Given the description of an element on the screen output the (x, y) to click on. 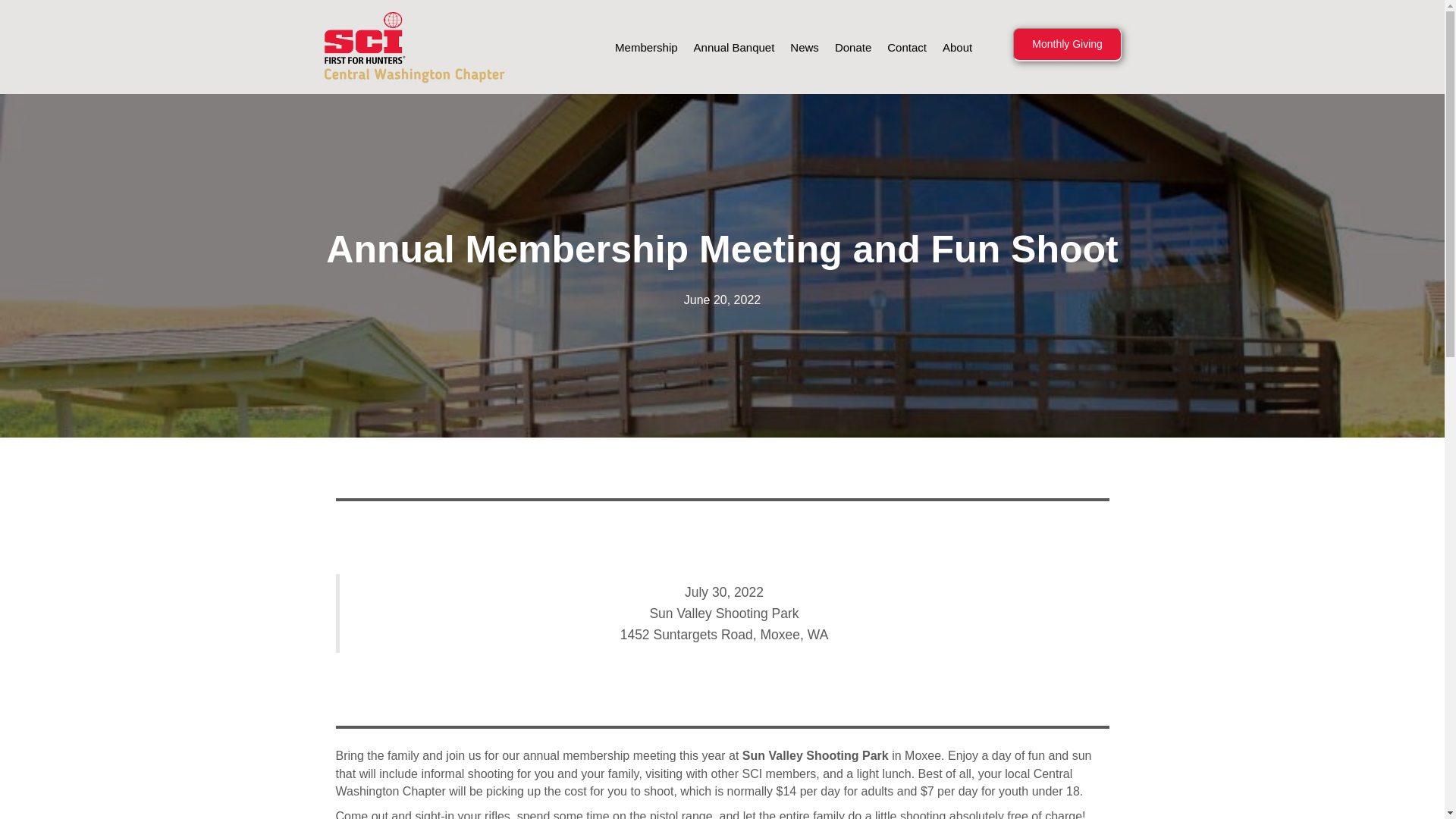
About (956, 47)
SCICWC logo5 (414, 46)
Monthly Giving (1067, 44)
News (805, 47)
Donate (853, 47)
Annual Banquet (734, 47)
Membership (646, 47)
Contact (906, 47)
